Given the description of an element on the screen output the (x, y) to click on. 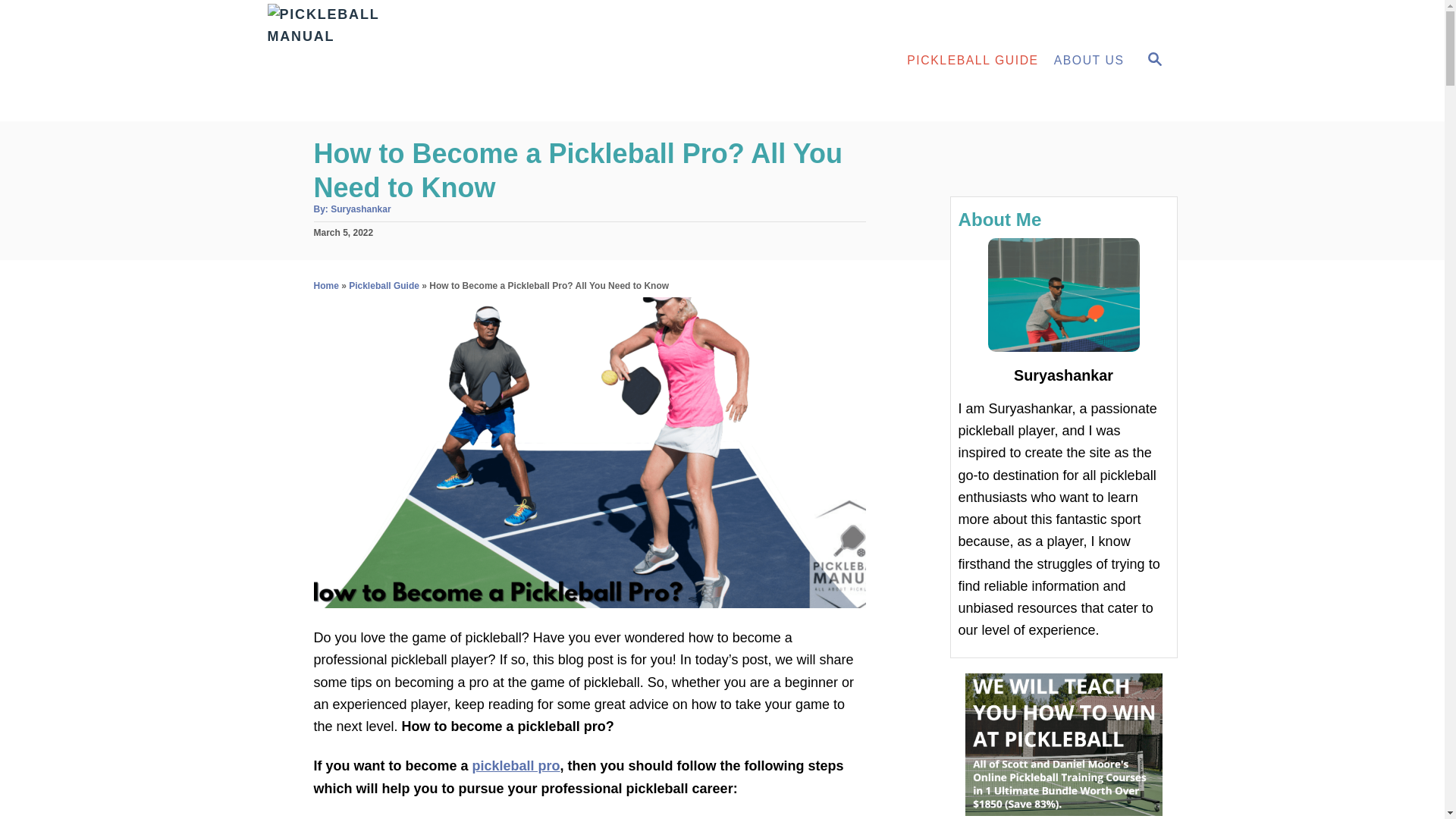
Suryashankar (360, 208)
pickleball pro (515, 765)
SEARCH (1153, 60)
Home (326, 285)
PICKLEBALL GUIDE (972, 60)
ABOUT US (1089, 60)
Pickleball Guide (384, 285)
Pickleball Manual (403, 60)
